Given the description of an element on the screen output the (x, y) to click on. 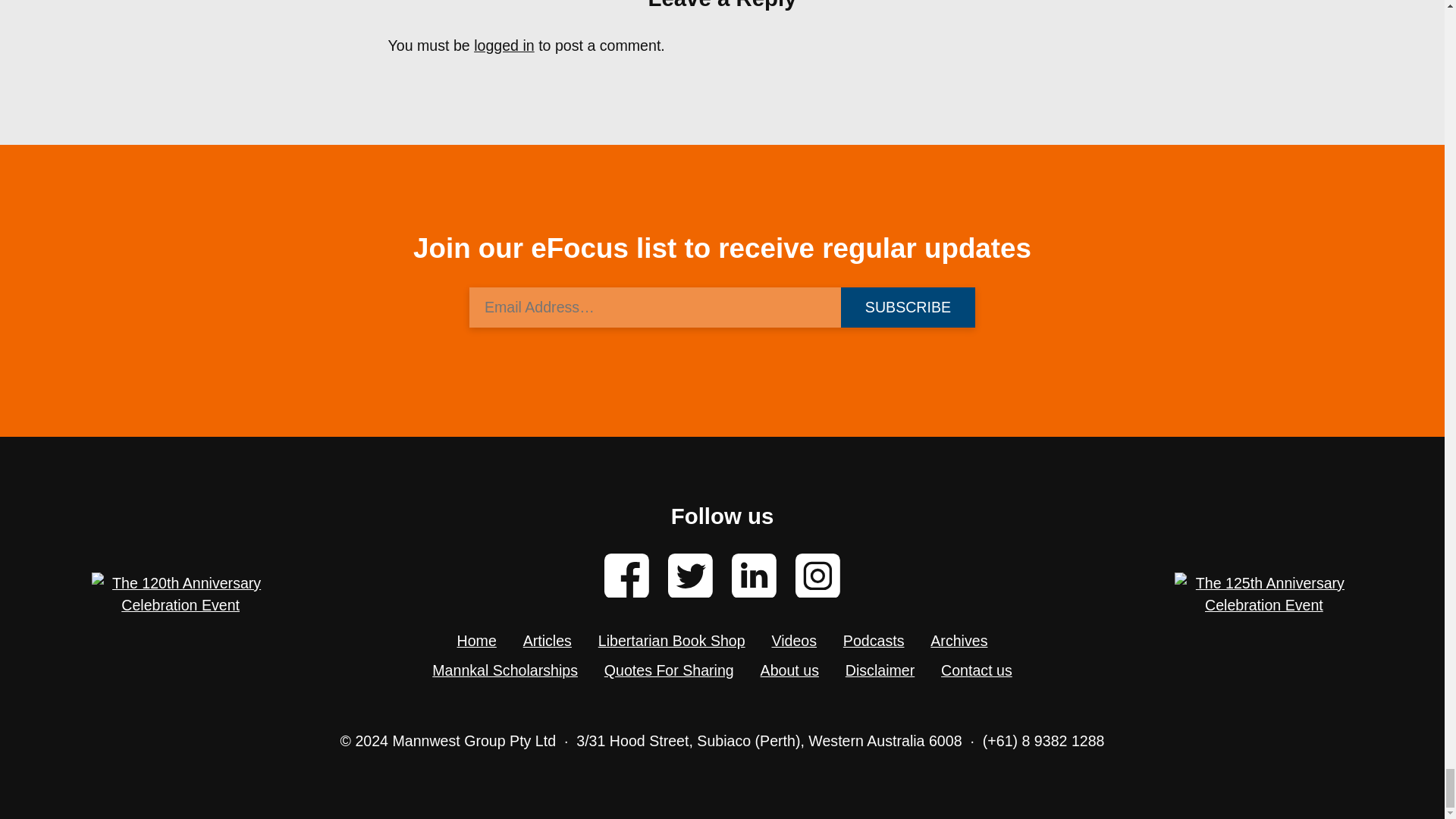
logged in (504, 45)
facebook (626, 575)
SUBSCRIBE (907, 306)
